Given the description of an element on the screen output the (x, y) to click on. 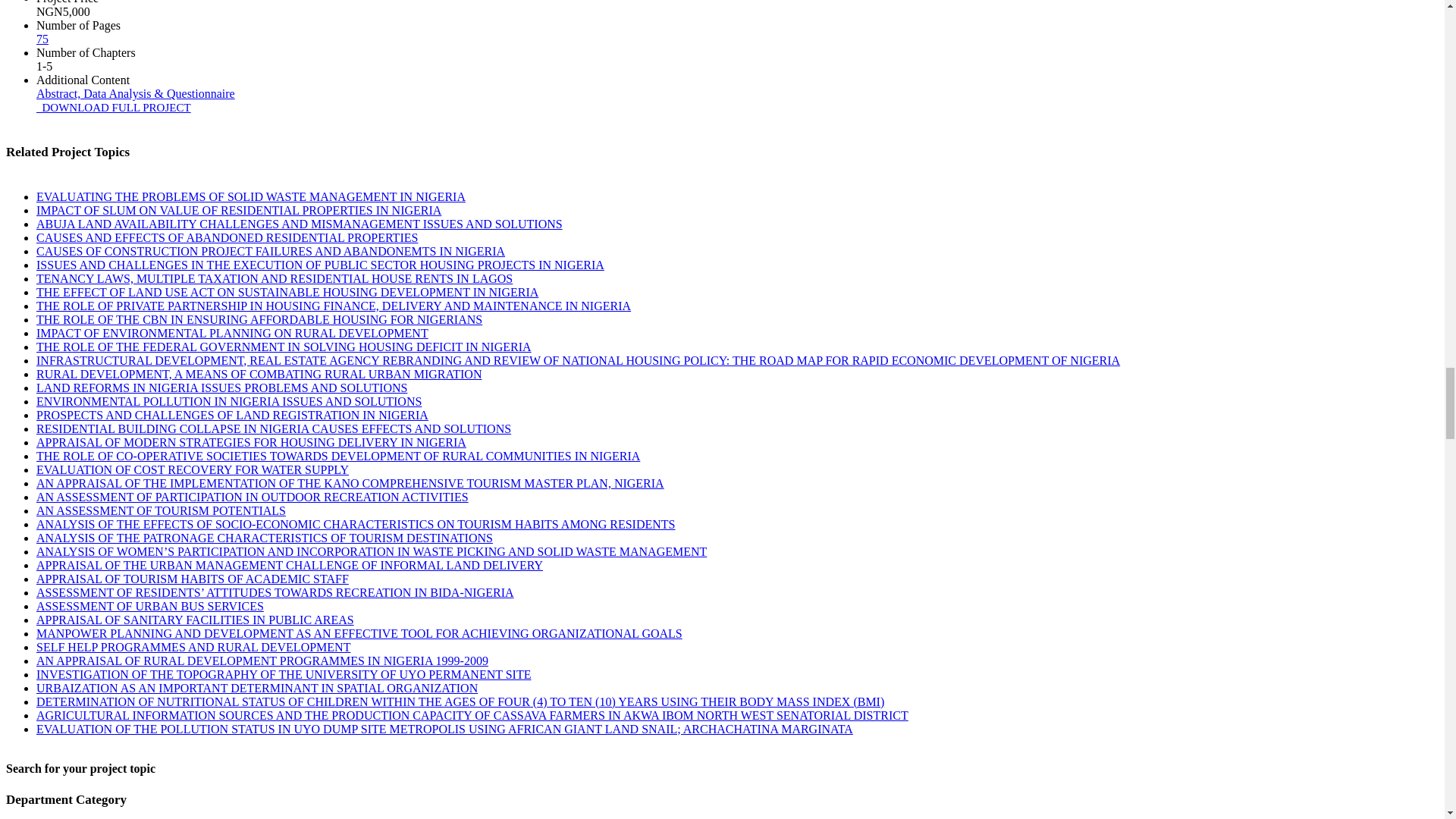
EVALUATING THE PROBLEMS OF SOLID WASTE MANAGEMENT IN NIGERIA (250, 196)
PROSPECTS AND CHALLENGES OF LAND REGISTRATION IN NIGERIA (232, 414)
ENVIRONMENTAL POLLUTION IN NIGERIA ISSUES AND SOLUTIONS (229, 400)
